Given the description of an element on the screen output the (x, y) to click on. 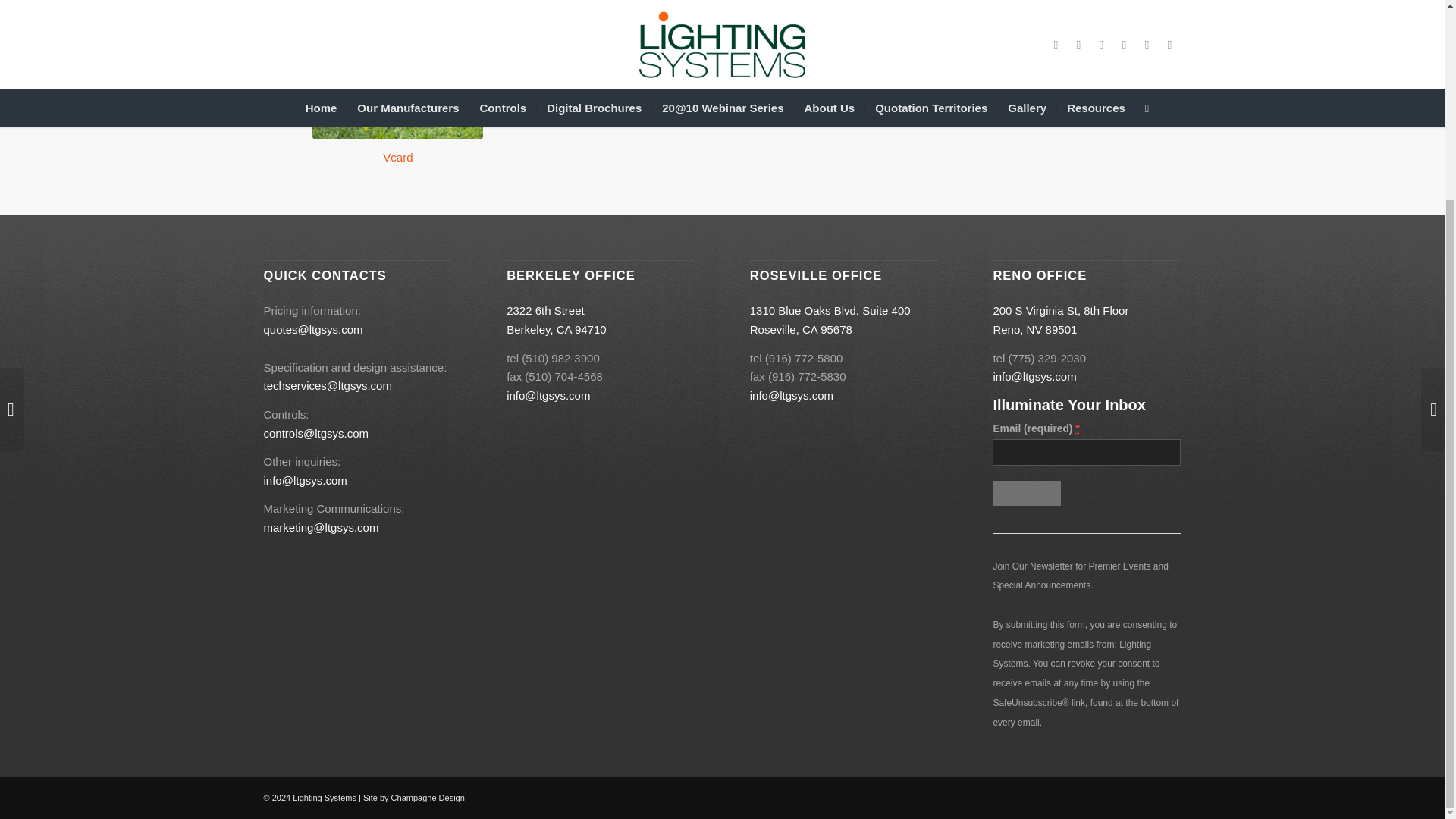
Sign up (1025, 493)
required (1077, 428)
Judy and Family (398, 69)
